Given the description of an element on the screen output the (x, y) to click on. 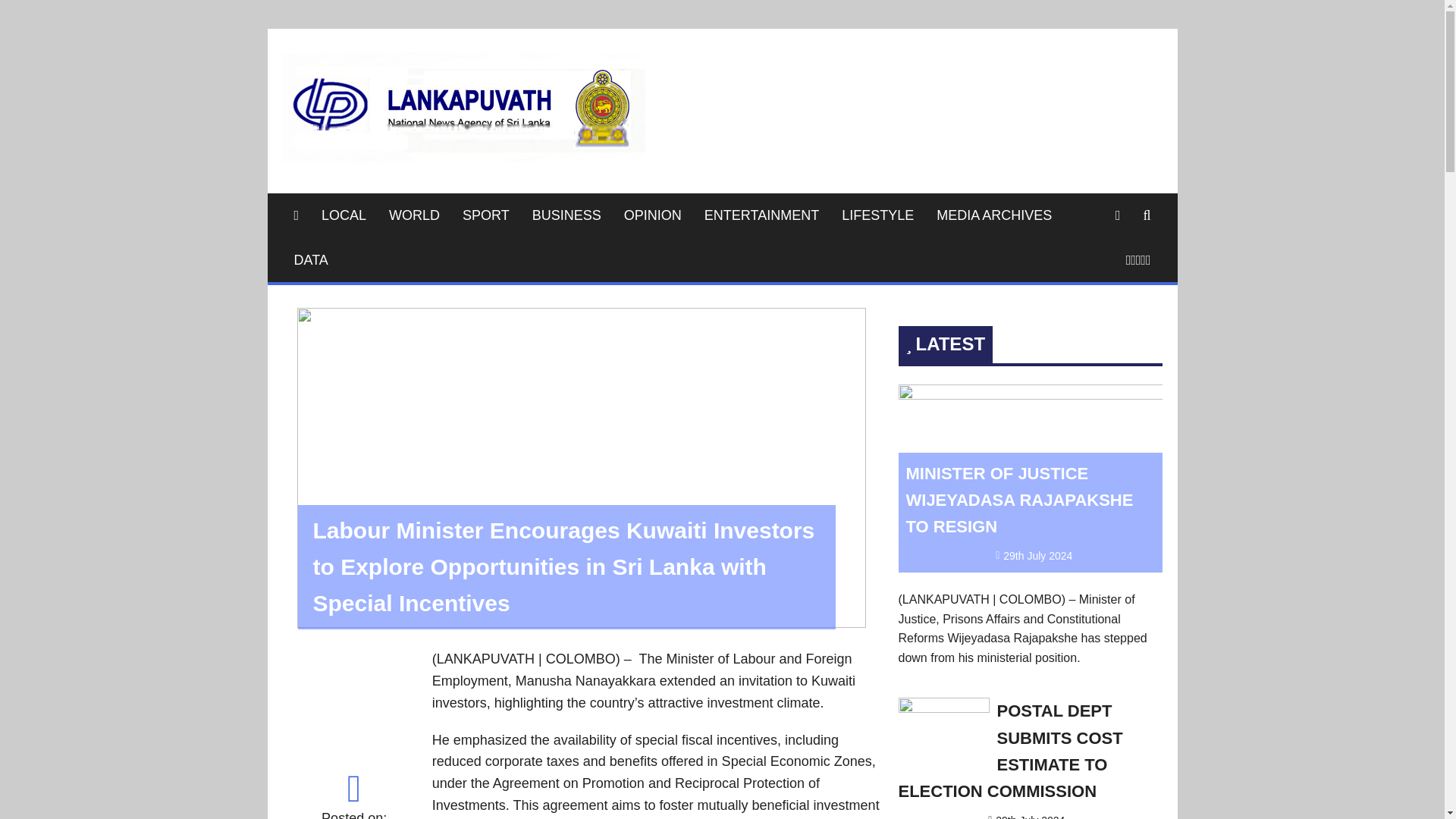
Postal Dept submits cost estimate to Election Commission (1010, 750)
BUSINESS (566, 215)
DATA (310, 260)
Lanka Puvath (748, 72)
SPORT (486, 215)
OPINION (652, 215)
LIFESTYLE (876, 215)
ENTERTAINMENT (761, 215)
Postal Dept submits cost estimate to Election Commission (943, 708)
Minister of Justice Wijeyadasa Rajapakshe to Resign (1018, 500)
Minister of Justice Wijeyadasa Rajapakshe to Resign (1029, 394)
WORLD (414, 215)
LOCAL (343, 215)
